Given the description of an element on the screen output the (x, y) to click on. 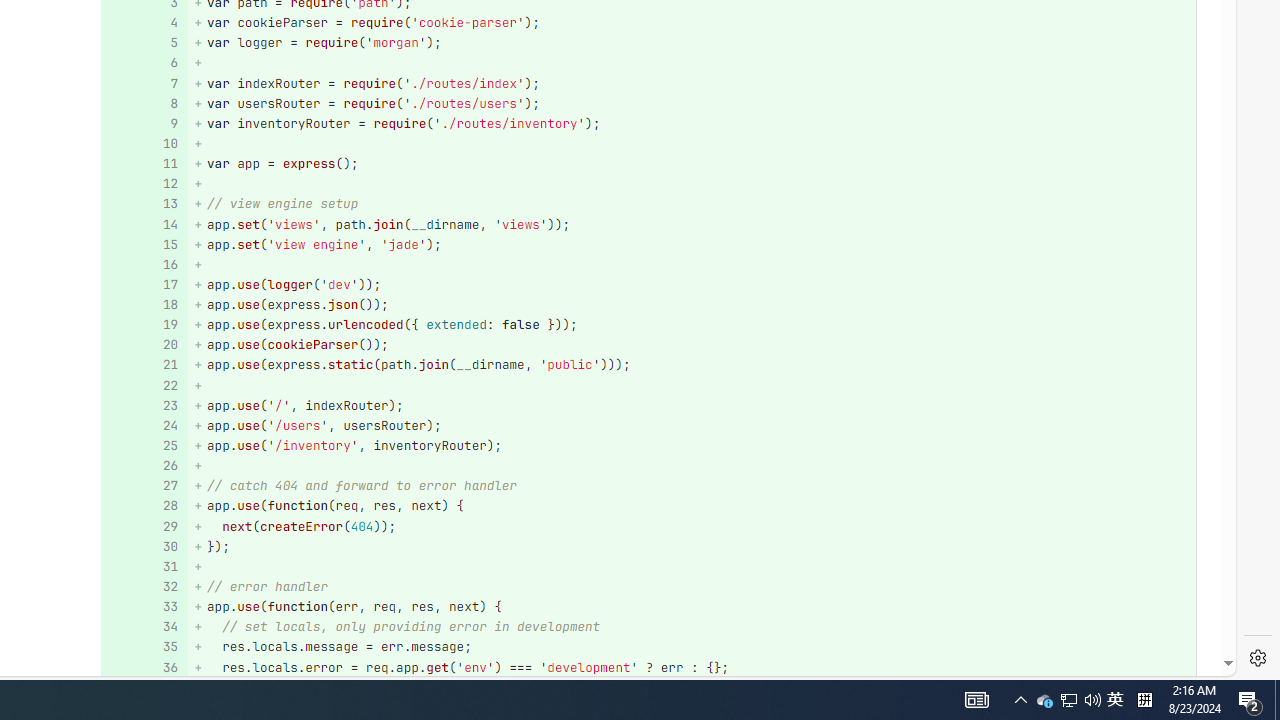
16 (141, 264)
+ res.locals.message = err.message;  (691, 647)
4 (141, 22)
24 (141, 425)
Add a comment to this line 7 (144, 83)
Add a comment to this line (138, 667)
Add a comment to this line 31 (144, 566)
35 (141, 647)
18 (141, 305)
6 (141, 63)
+ app.use(express.static(path.join(__dirname, 'public')));  (691, 364)
10 (141, 143)
Add a comment to this line 26 (144, 465)
+ var indexRouter = require('./routes/index');  (691, 83)
30 (141, 546)
